Given the description of an element on the screen output the (x, y) to click on. 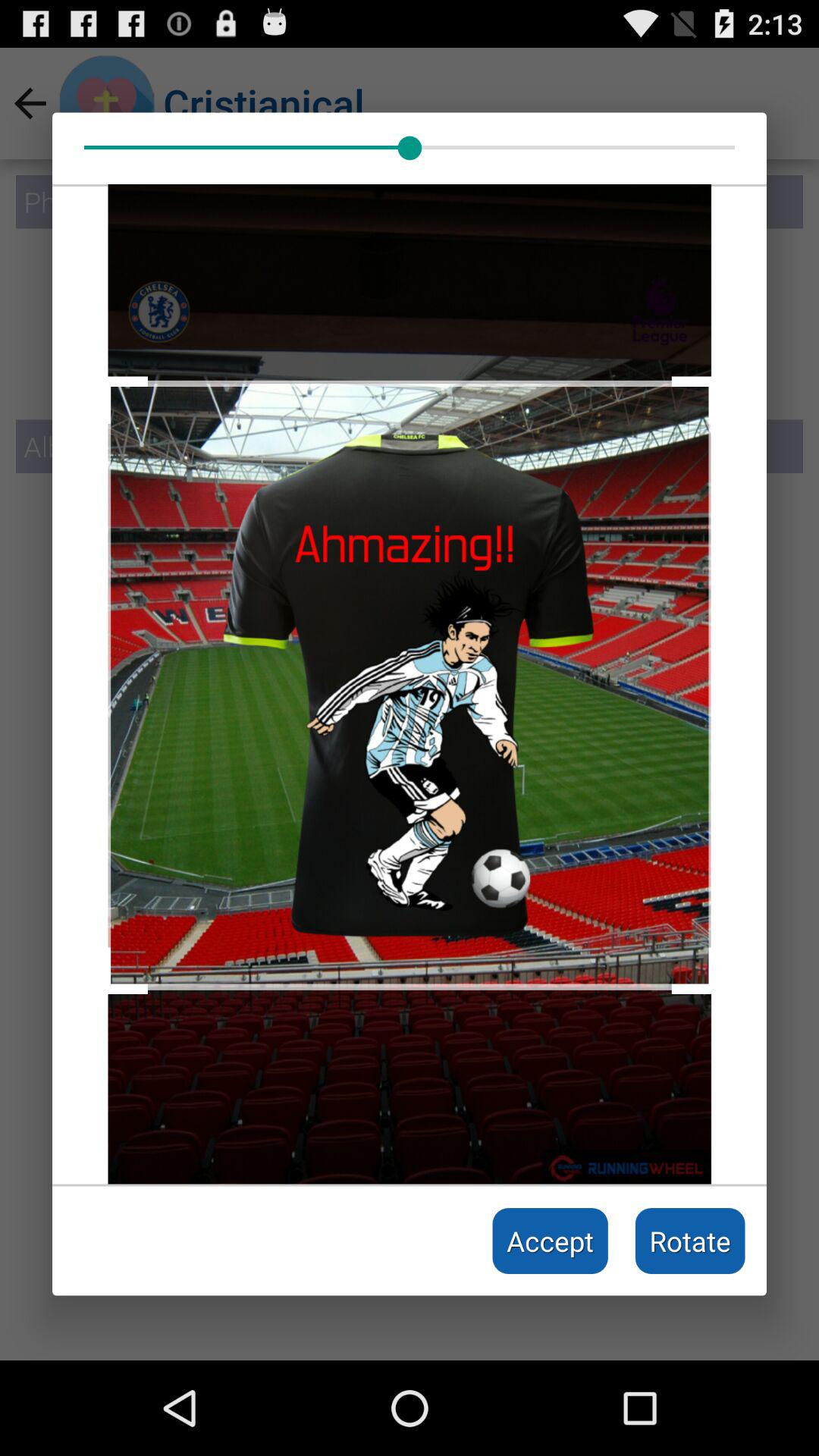
jump until the rotate icon (689, 1240)
